Given the description of an element on the screen output the (x, y) to click on. 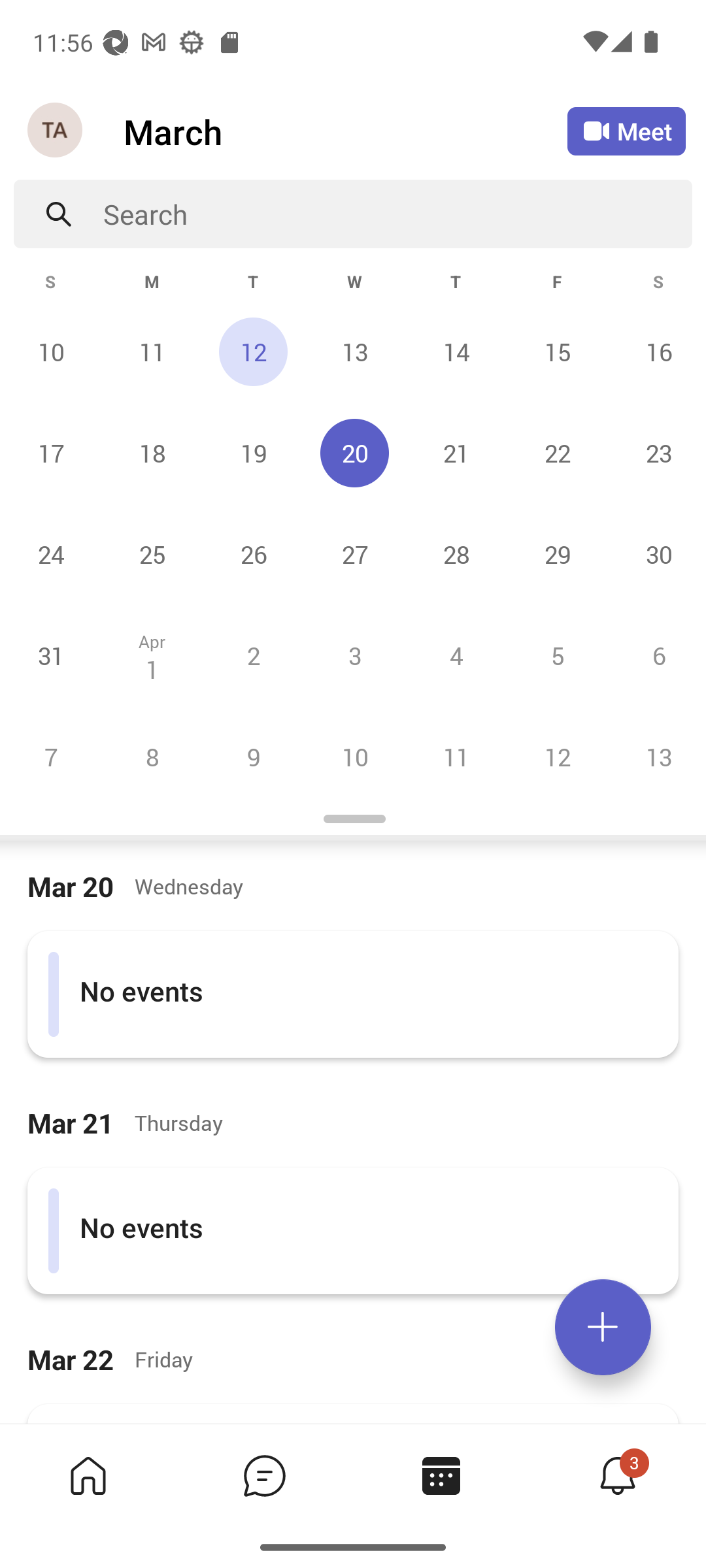
Navigation (56, 130)
Meet Meet now or join with an ID (626, 130)
March March Calendar Agenda View (345, 131)
Search (397, 213)
Sunday, March 10 10 (50, 351)
Monday, March 11 11 (151, 351)
Tuesday, March 12, Today 12 (253, 351)
Wednesday, March 13 13 (354, 351)
Thursday, March 14 14 (455, 351)
Friday, March 15 15 (556, 351)
Saturday, March 16 16 (656, 351)
Sunday, March 17 17 (50, 452)
Monday, March 18 18 (151, 452)
Tuesday, March 19 19 (253, 452)
Wednesday, March 20, Selected 20 (354, 452)
Thursday, March 21 21 (455, 452)
Friday, March 22 22 (556, 452)
Saturday, March 23 23 (656, 452)
Sunday, March 24 24 (50, 554)
Monday, March 25 25 (151, 554)
Tuesday, March 26 26 (253, 554)
Wednesday, March 27 27 (354, 554)
Thursday, March 28 28 (455, 554)
Friday, March 29 29 (556, 554)
Saturday, March 30 30 (656, 554)
Sunday, March 31 31 (50, 655)
Monday, April 1 Apr 1 (151, 655)
Tuesday, April 2 2 (253, 655)
Wednesday, April 3 3 (354, 655)
Thursday, April 4 4 (455, 655)
Friday, April 5 5 (556, 655)
Saturday, April 6 6 (656, 655)
Sunday, April 7 7 (50, 756)
Monday, April 8 8 (151, 756)
Tuesday, April 9 9 (253, 756)
Wednesday, April 10 10 (354, 756)
Thursday, April 11 11 (455, 756)
Friday, April 12 12 (556, 756)
Saturday, April 13 13 (656, 756)
Expand meetings menu (602, 1327)
Home tab,1 of 4, not selected (88, 1475)
Chat tab,2 of 4, not selected (264, 1475)
Calendar tab, 3 of 4 (441, 1475)
Activity tab,4 of 4, not selected, 3 new 3 (617, 1475)
